Given the description of an element on the screen output the (x, y) to click on. 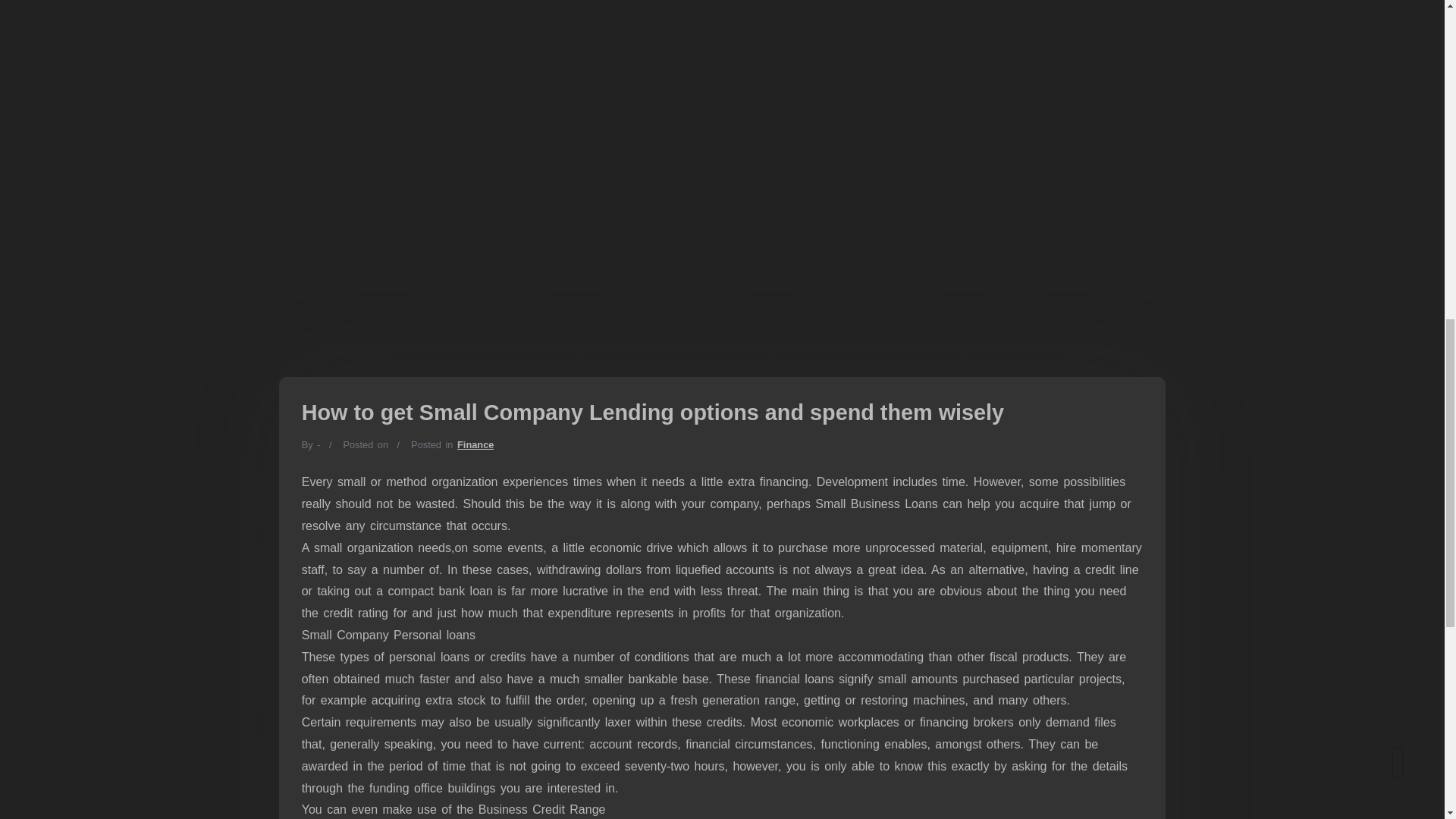
Finance (475, 444)
